Given the description of an element on the screen output the (x, y) to click on. 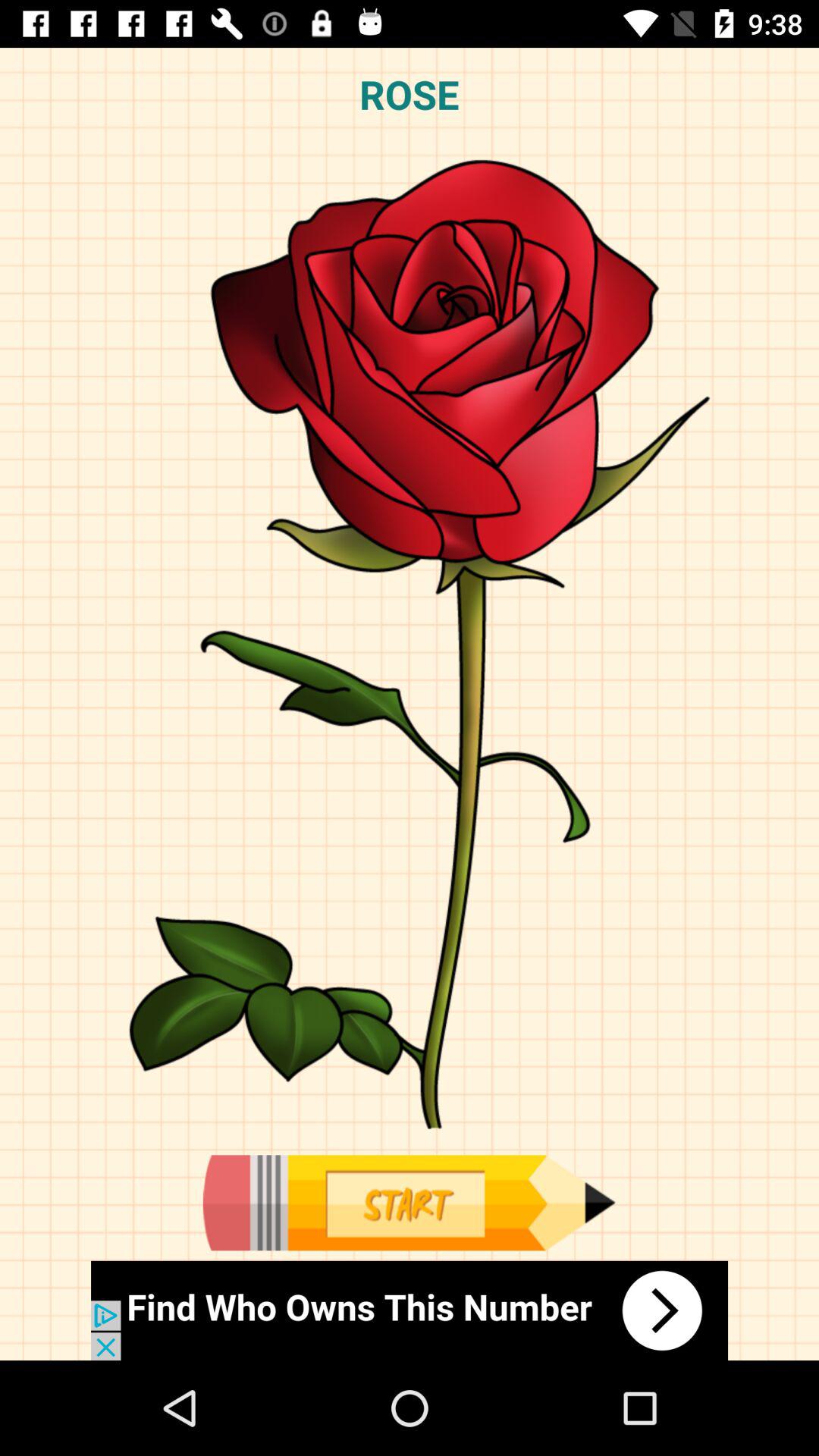
view advertisement (409, 1310)
